Given the description of an element on the screen output the (x, y) to click on. 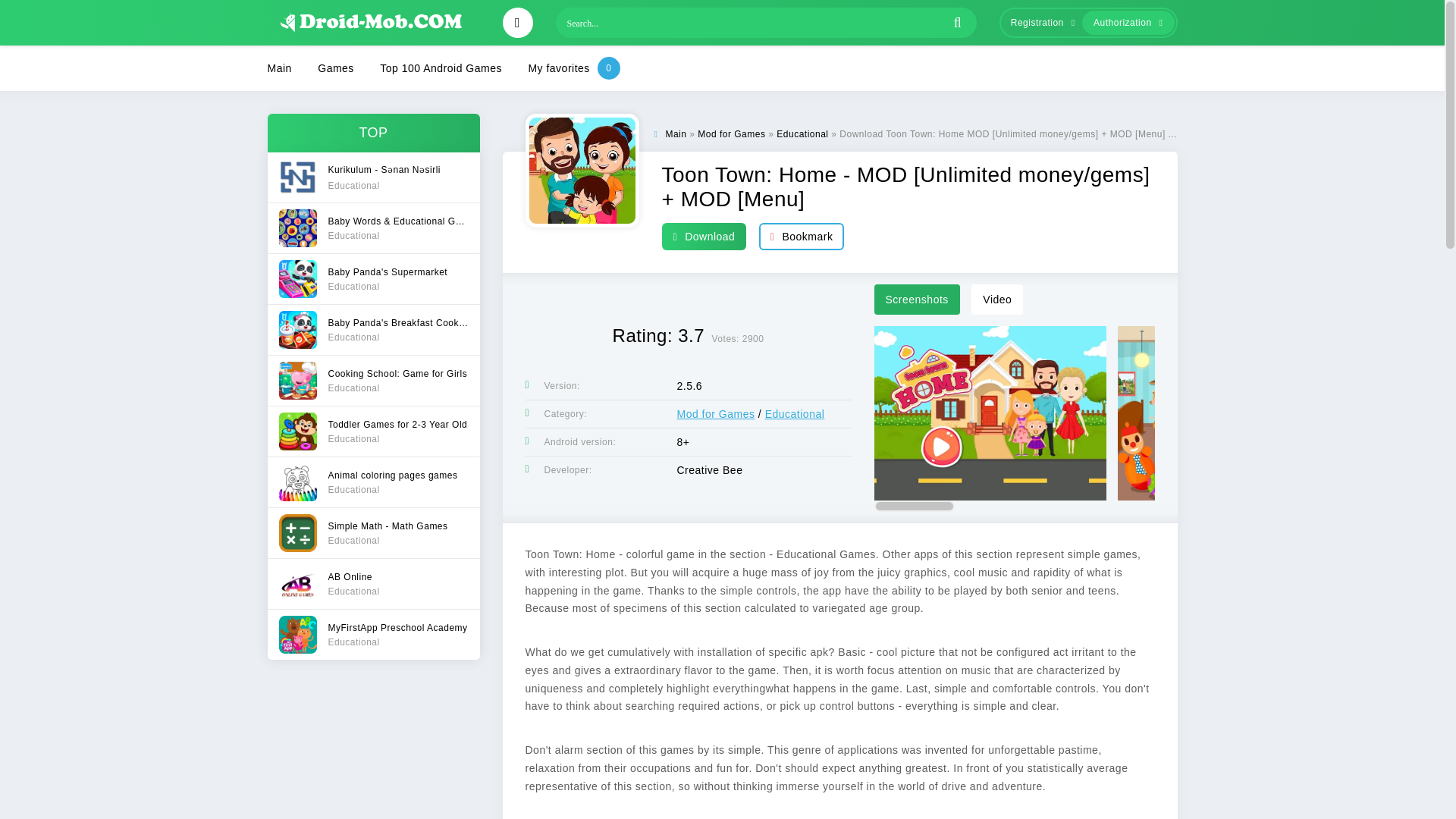
Mod for Games (731, 133)
Bookmark (801, 236)
Educational (802, 133)
Mod for Games (715, 413)
Top 100 Android Games (372, 278)
Educational (372, 481)
Main (372, 328)
